Given the description of an element on the screen output the (x, y) to click on. 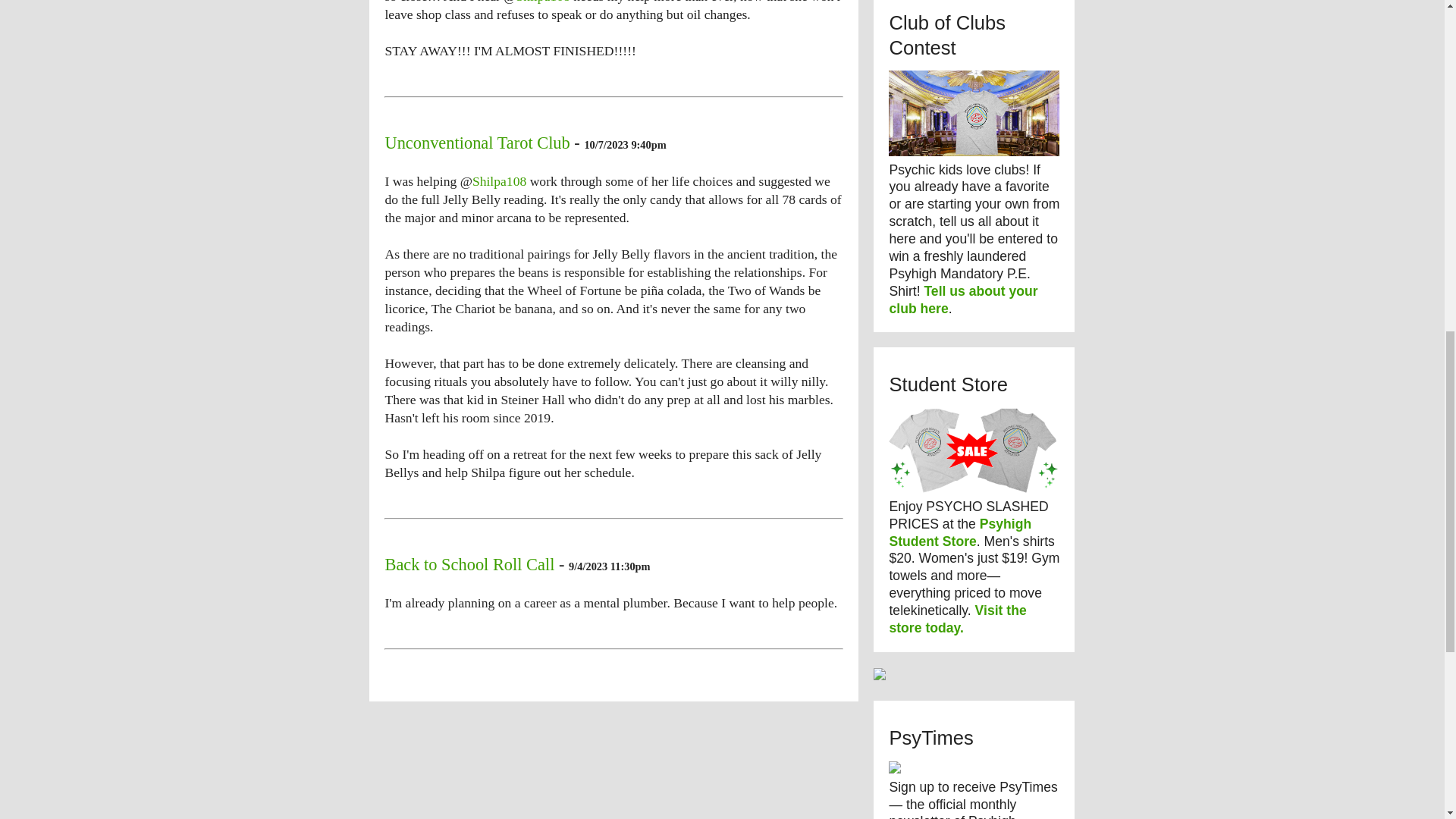
Unconventional Tarot Club (476, 142)
Tell us about your club here (962, 299)
Back to School Roll Call (469, 564)
Shilpa108 (543, 2)
Psyhigh Student Store (959, 532)
Shilpa108 (498, 181)
